Given the description of an element on the screen output the (x, y) to click on. 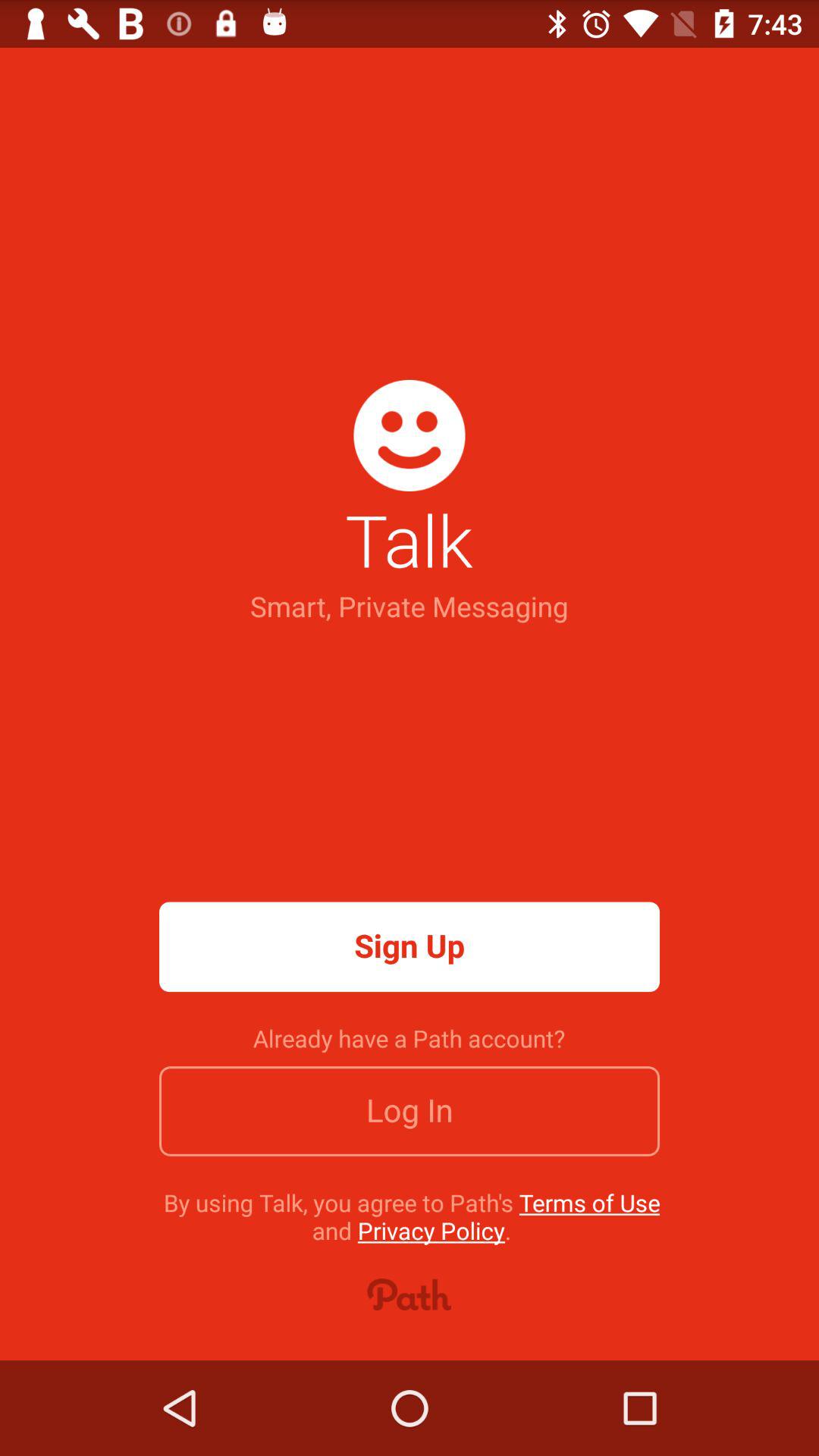
scroll until by using talk icon (411, 1216)
